Given the description of an element on the screen output the (x, y) to click on. 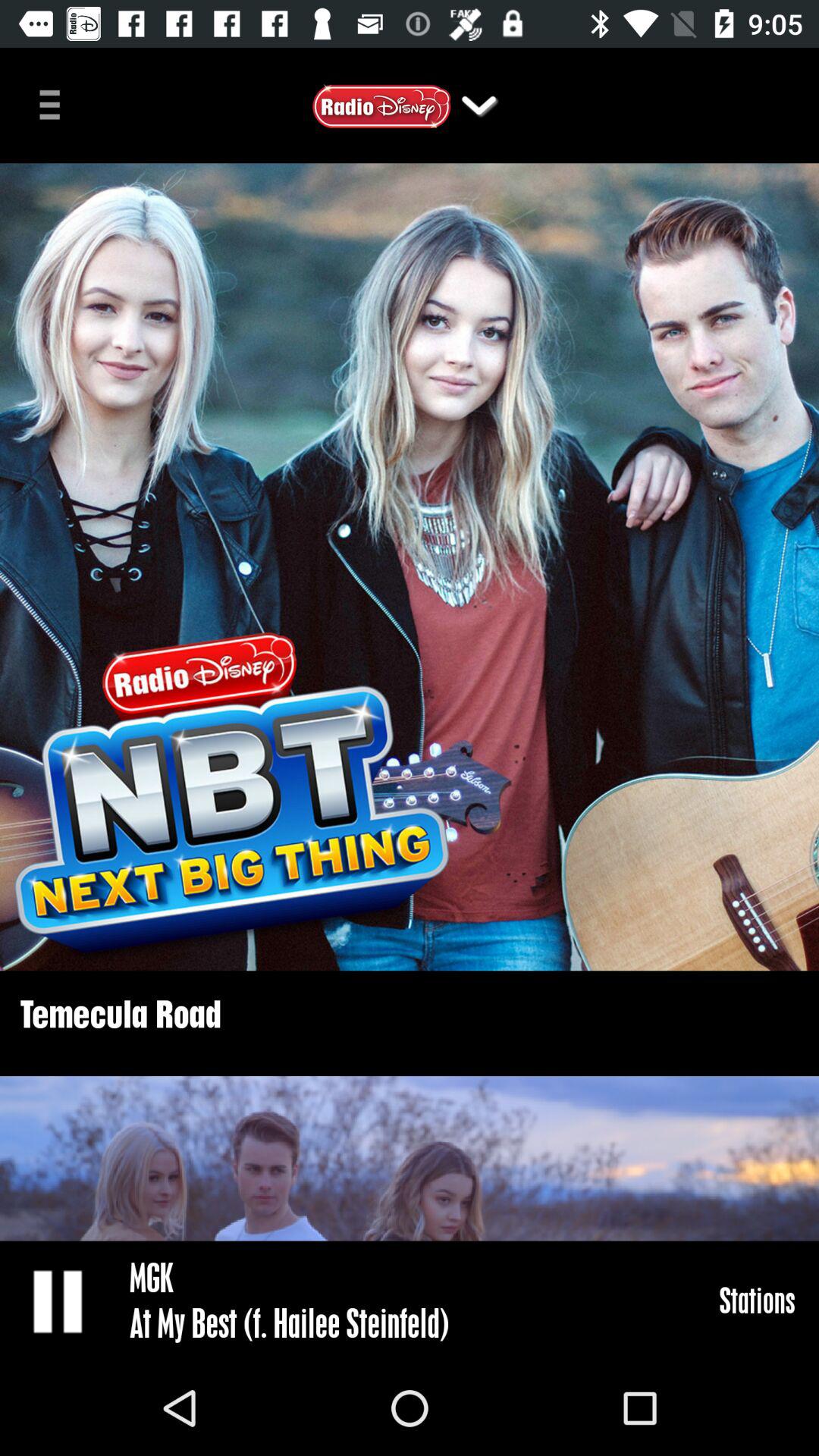
turn on icon next to the mgk (59, 1300)
